Given the description of an element on the screen output the (x, y) to click on. 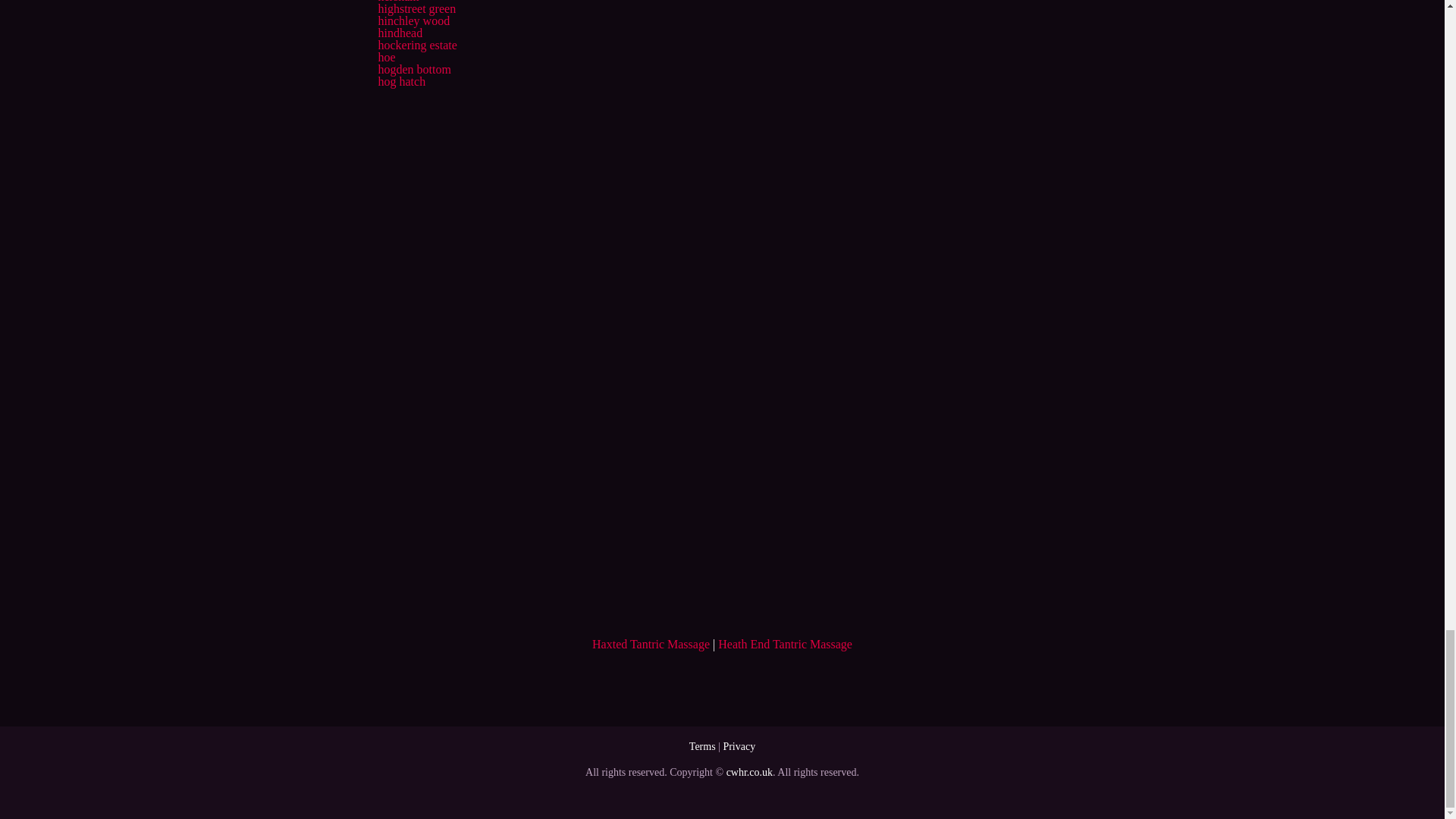
highstreet green (416, 8)
cwhr.co.uk (749, 772)
Privacy (738, 746)
Haxted Tantric Massage (651, 644)
hinchley wood (413, 20)
Privacy (738, 746)
Terms (702, 746)
hogden bottom (413, 69)
hockering estate (417, 44)
hog hatch (401, 81)
hersham (398, 1)
hoe (385, 56)
hindhead (399, 32)
Heath End Tantric Massage (784, 644)
Terms (702, 746)
